Given the description of an element on the screen output the (x, y) to click on. 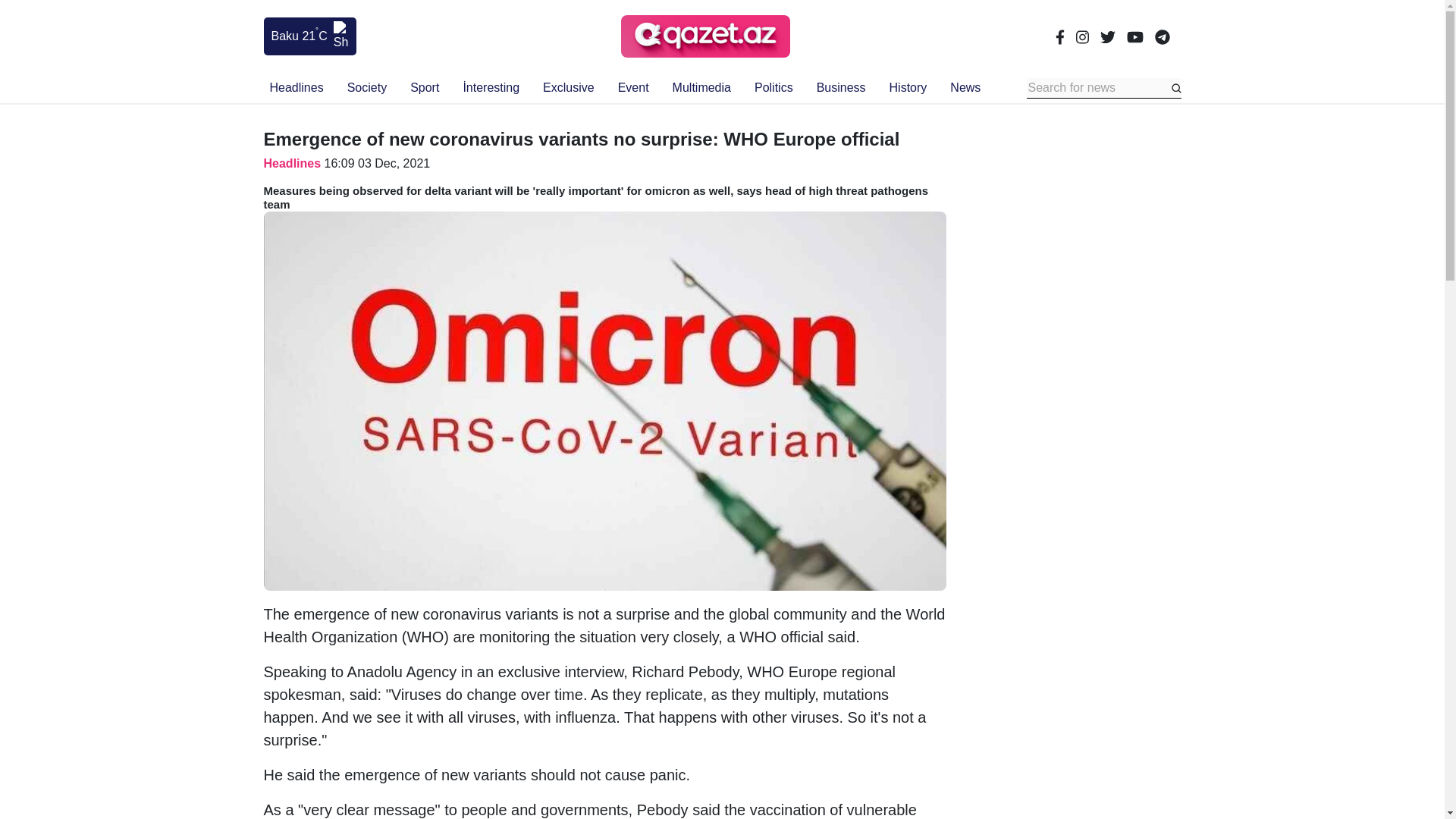
History (908, 87)
News (965, 87)
Politics (773, 87)
Headlines (292, 163)
Multimedia (701, 87)
Event (633, 87)
Sport (424, 87)
Society (366, 87)
Headlines (296, 87)
Exclusive (568, 87)
